Given the description of an element on the screen output the (x, y) to click on. 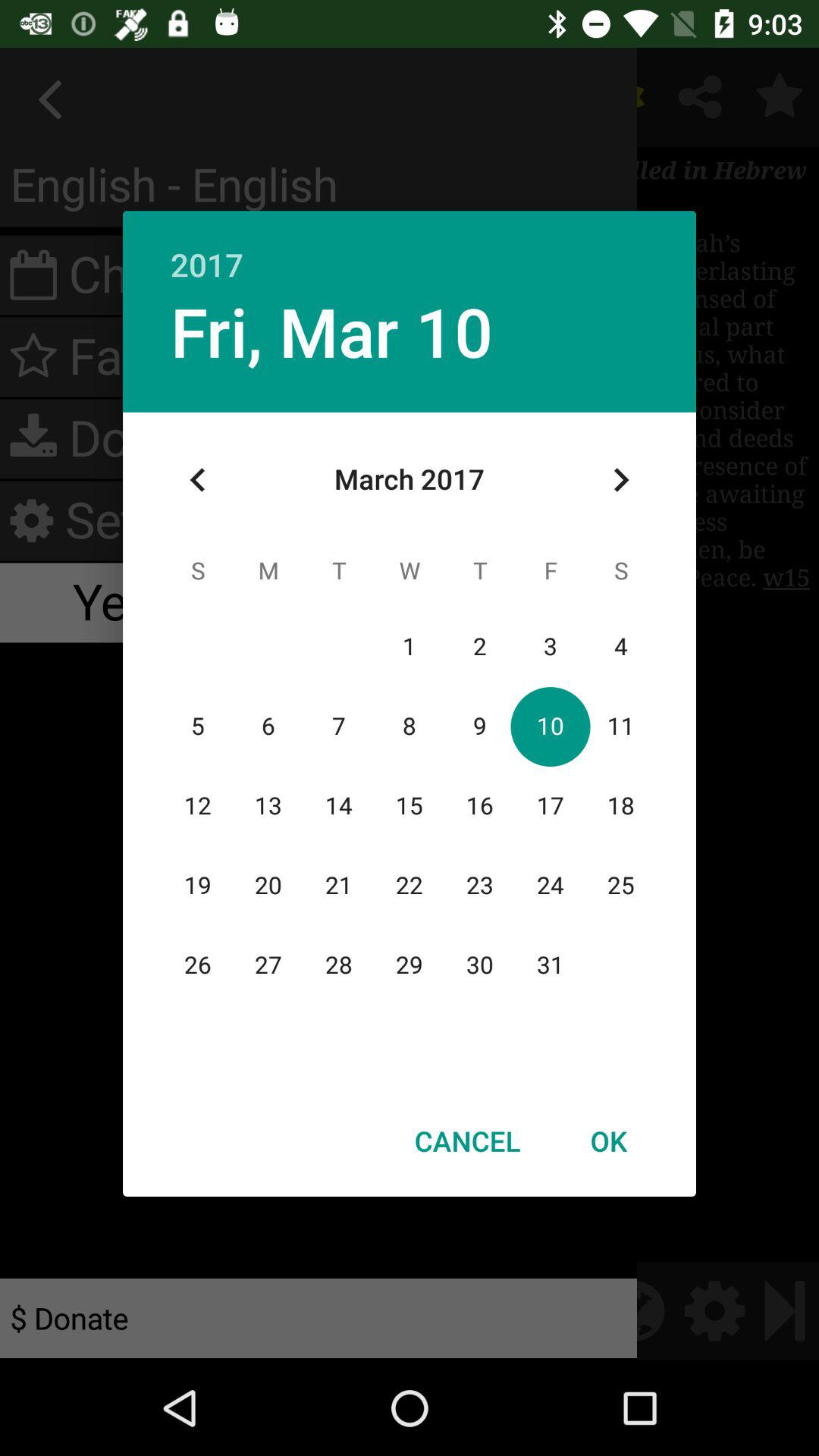
select the button to the right of cancel icon (608, 1140)
